Given the description of an element on the screen output the (x, y) to click on. 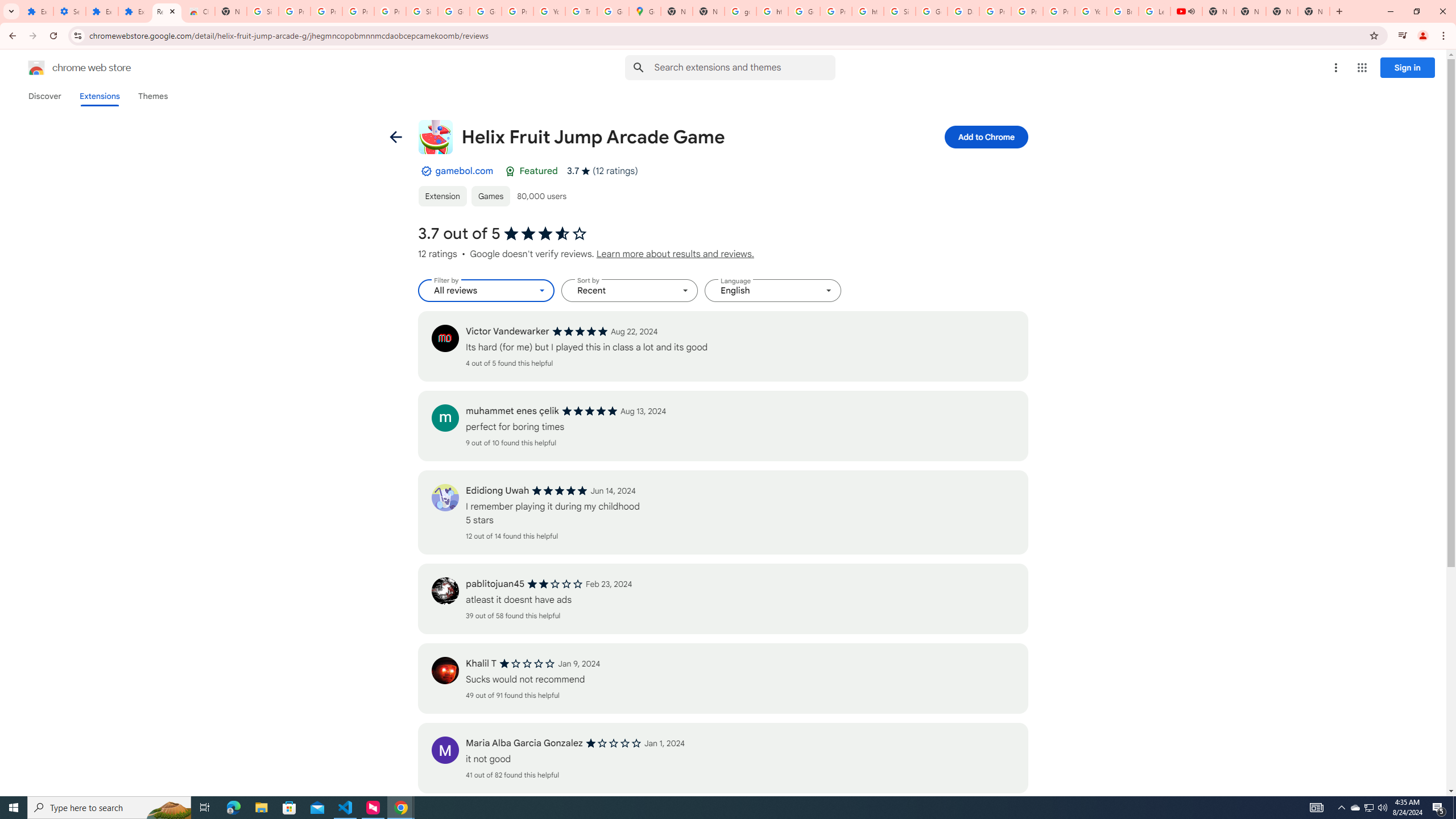
Learn more about results and reviews. (674, 253)
Sign in - Google Accounts (262, 11)
Extension (442, 195)
Reviews: Helix Fruit Jump Arcade Game (166, 11)
Review's profile picture (444, 750)
Mute tab (1190, 10)
